Given the description of an element on the screen output the (x, y) to click on. 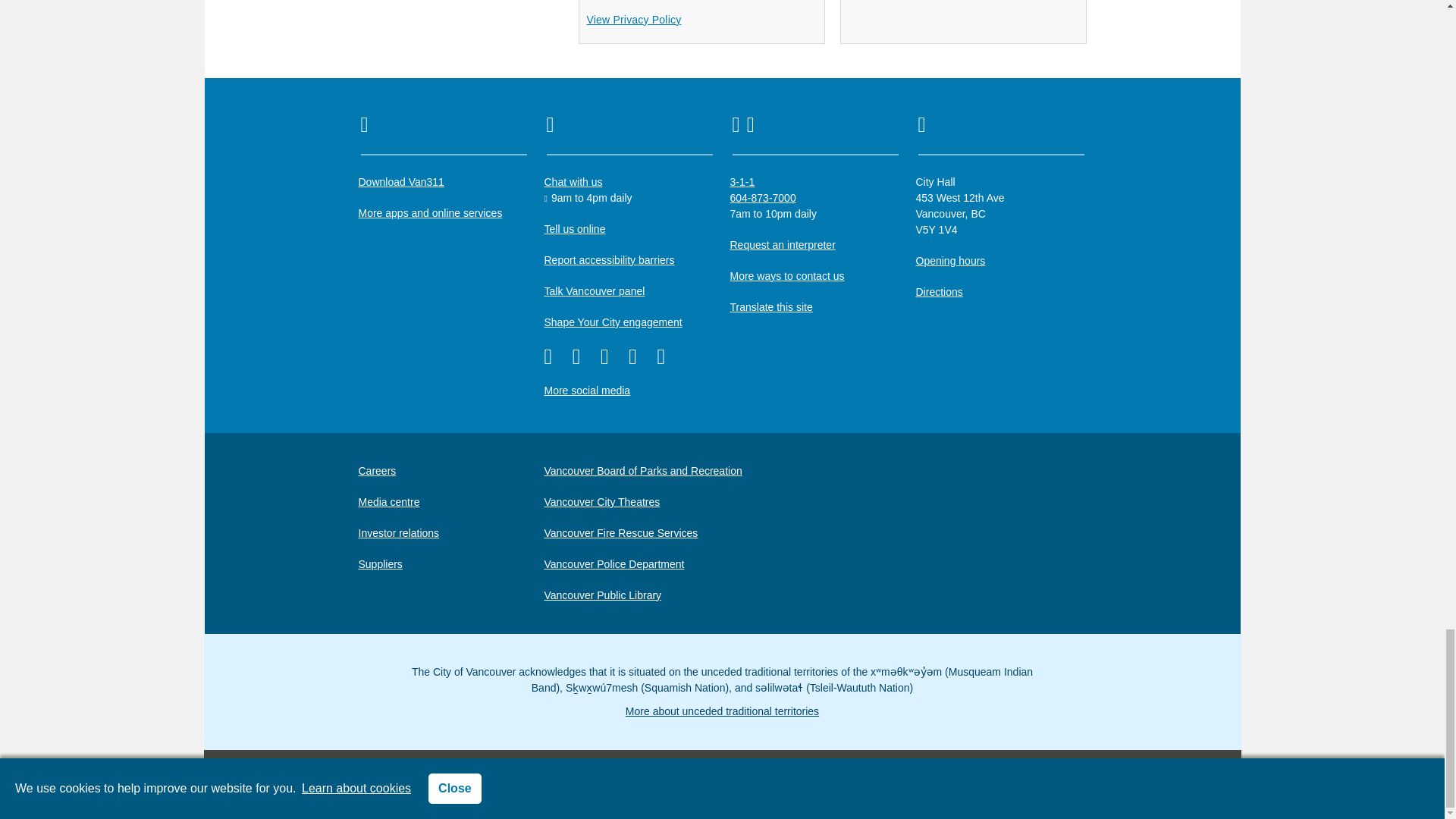
View privacy policy (633, 19)
